Given the description of an element on the screen output the (x, y) to click on. 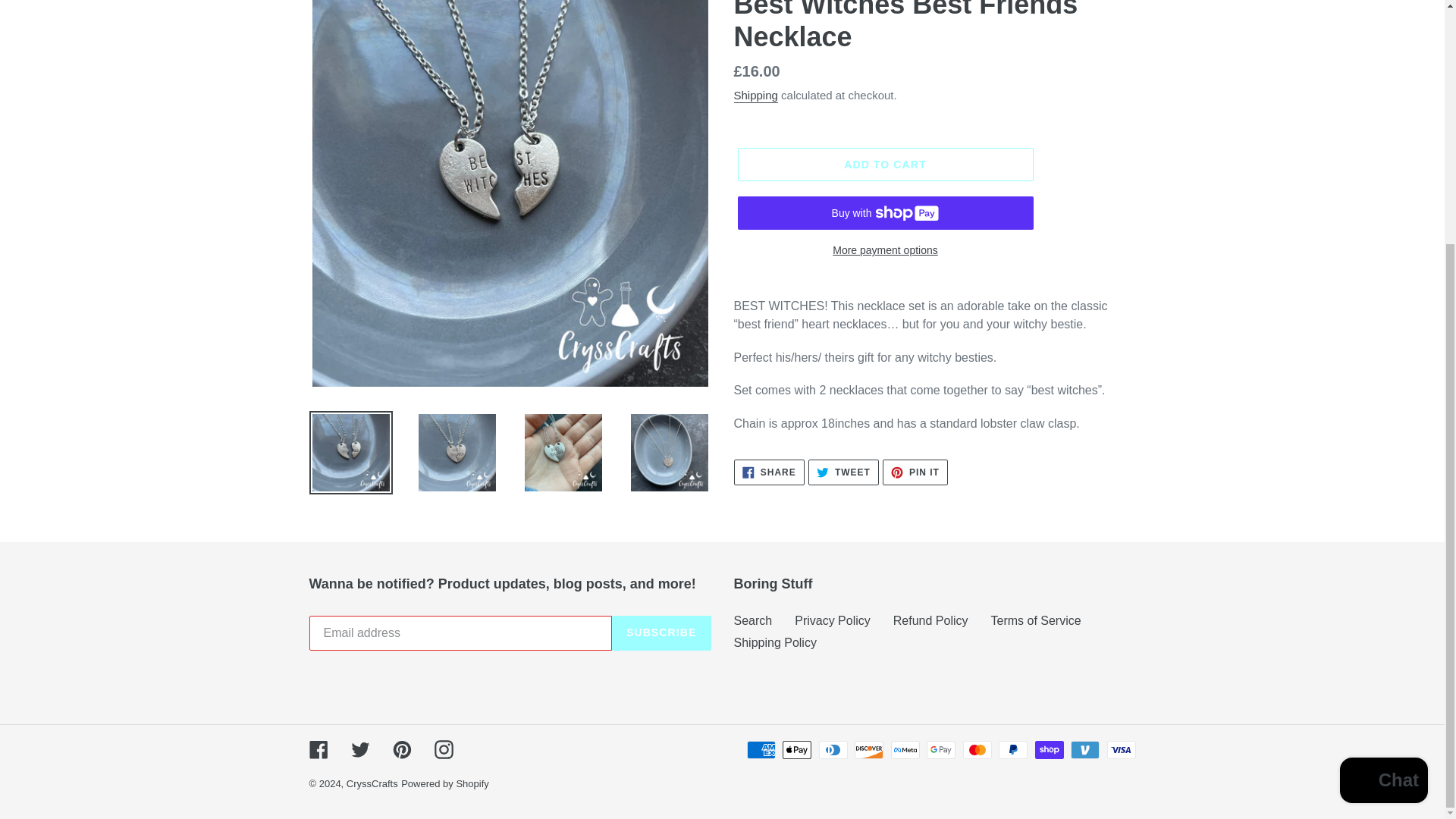
Shopify online store chat (914, 472)
Search (1383, 443)
Privacy Policy (769, 472)
Shipping Policy (753, 620)
Terms of Service (832, 620)
Facebook (774, 642)
Twitter (1035, 620)
